Given the description of an element on the screen output the (x, y) to click on. 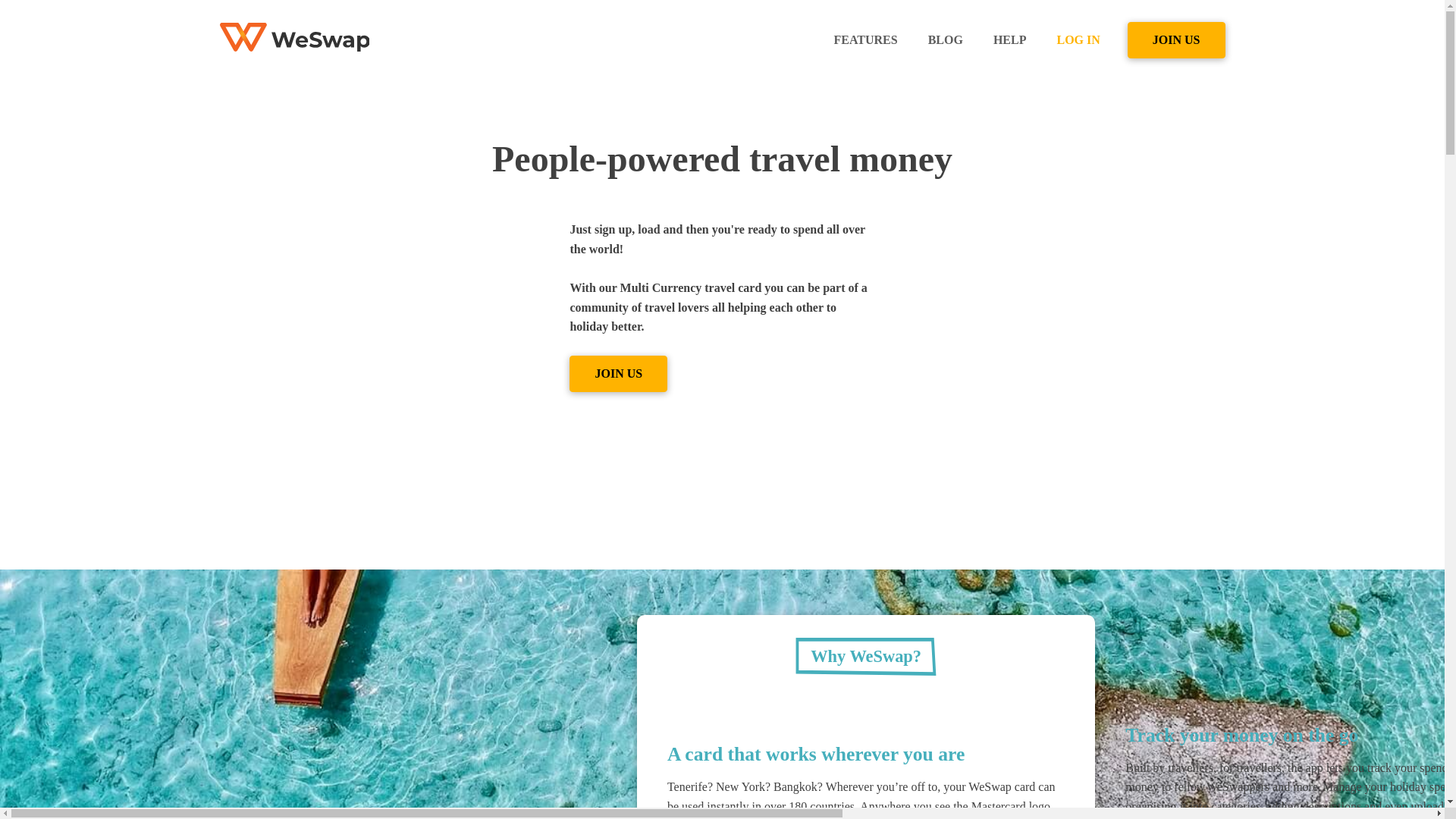
JOIN US (617, 373)
FEATURES (865, 40)
JOIN US (1175, 40)
HELP (1010, 40)
BLOG (945, 40)
LOG IN (1078, 40)
